Given the description of an element on the screen output the (x, y) to click on. 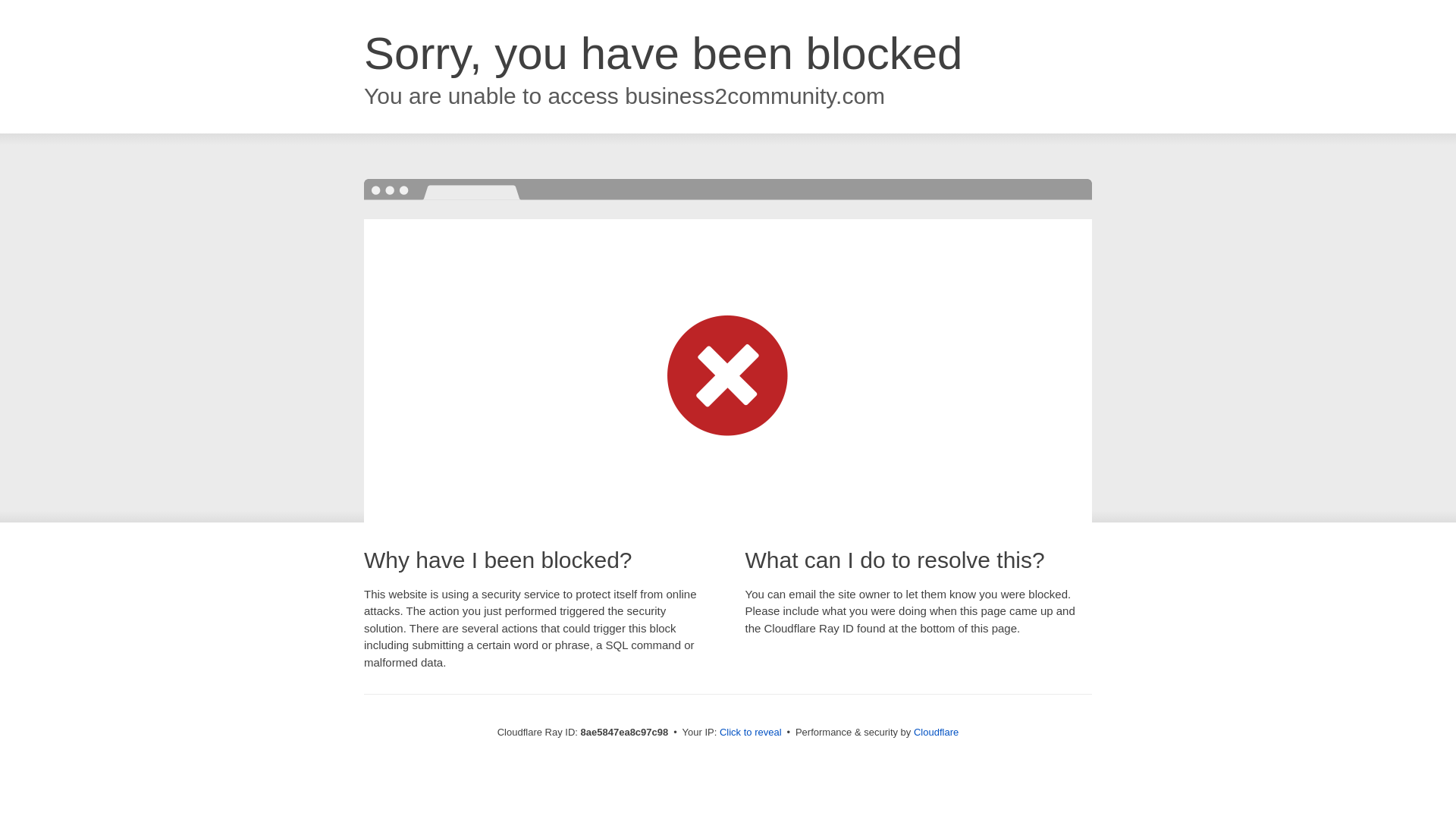
Click to reveal (750, 732)
Cloudflare (936, 731)
